Given the description of an element on the screen output the (x, y) to click on. 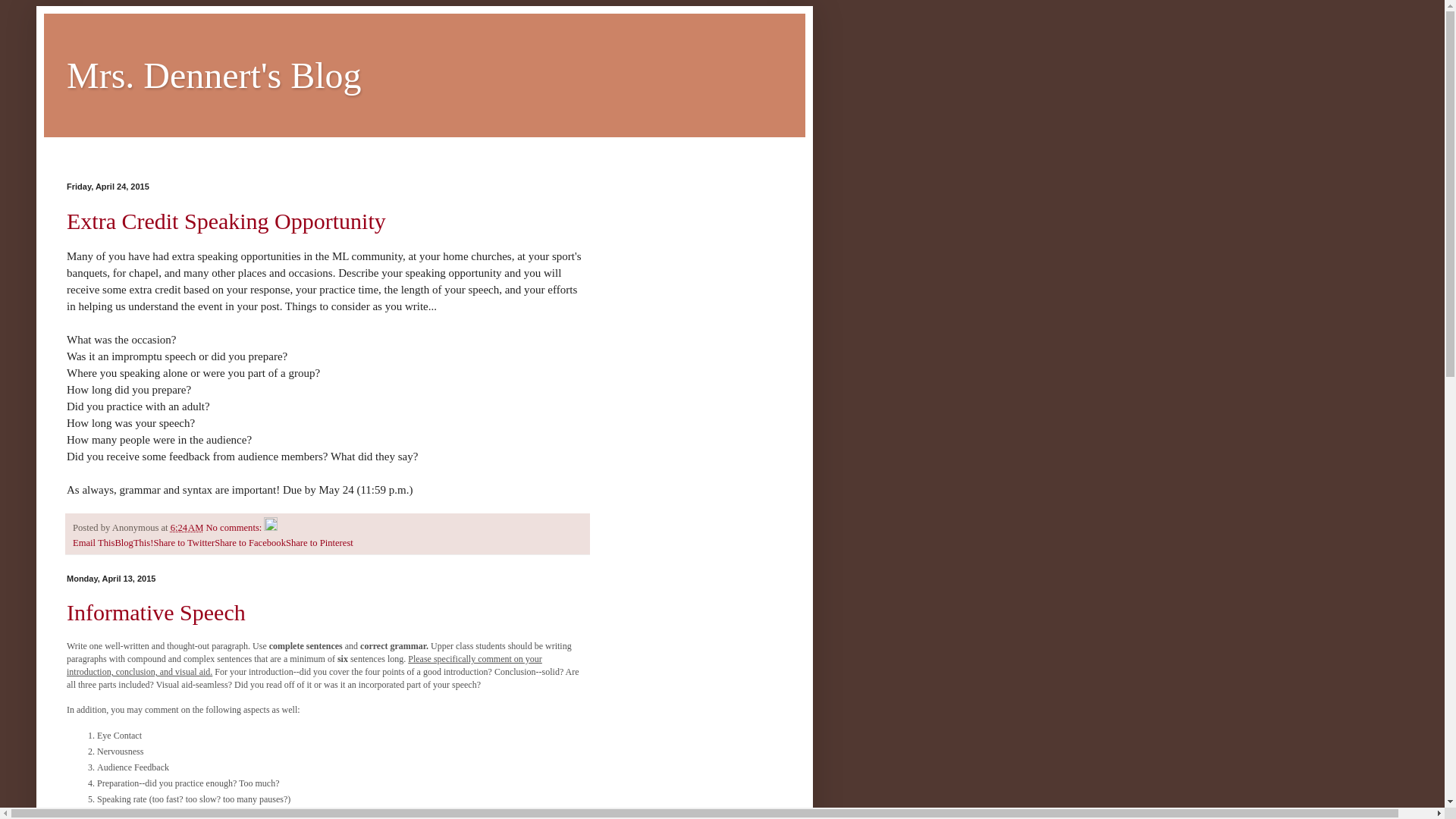
Mrs. Dennert's Blog (213, 75)
Edit Post (270, 527)
Email This (93, 542)
Share to Pinterest (319, 542)
Informative Speech (156, 611)
BlogThis! (133, 542)
Share to Pinterest (319, 542)
Share to Twitter (183, 542)
permanent link (186, 527)
